Given the description of an element on the screen output the (x, y) to click on. 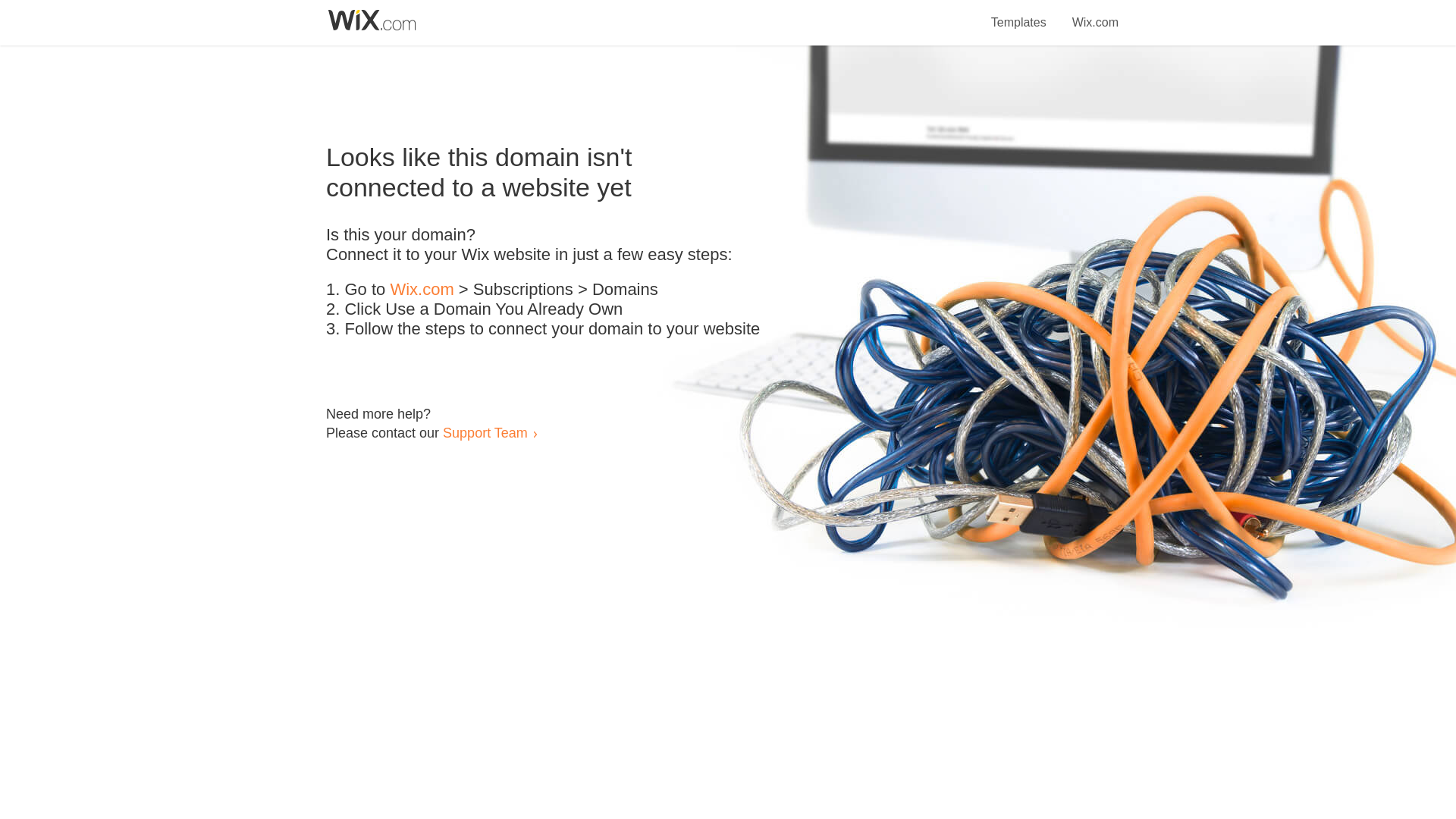
Wix.com (1095, 14)
Support Team (484, 432)
Templates (1018, 14)
Wix.com (421, 289)
